Given the description of an element on the screen output the (x, y) to click on. 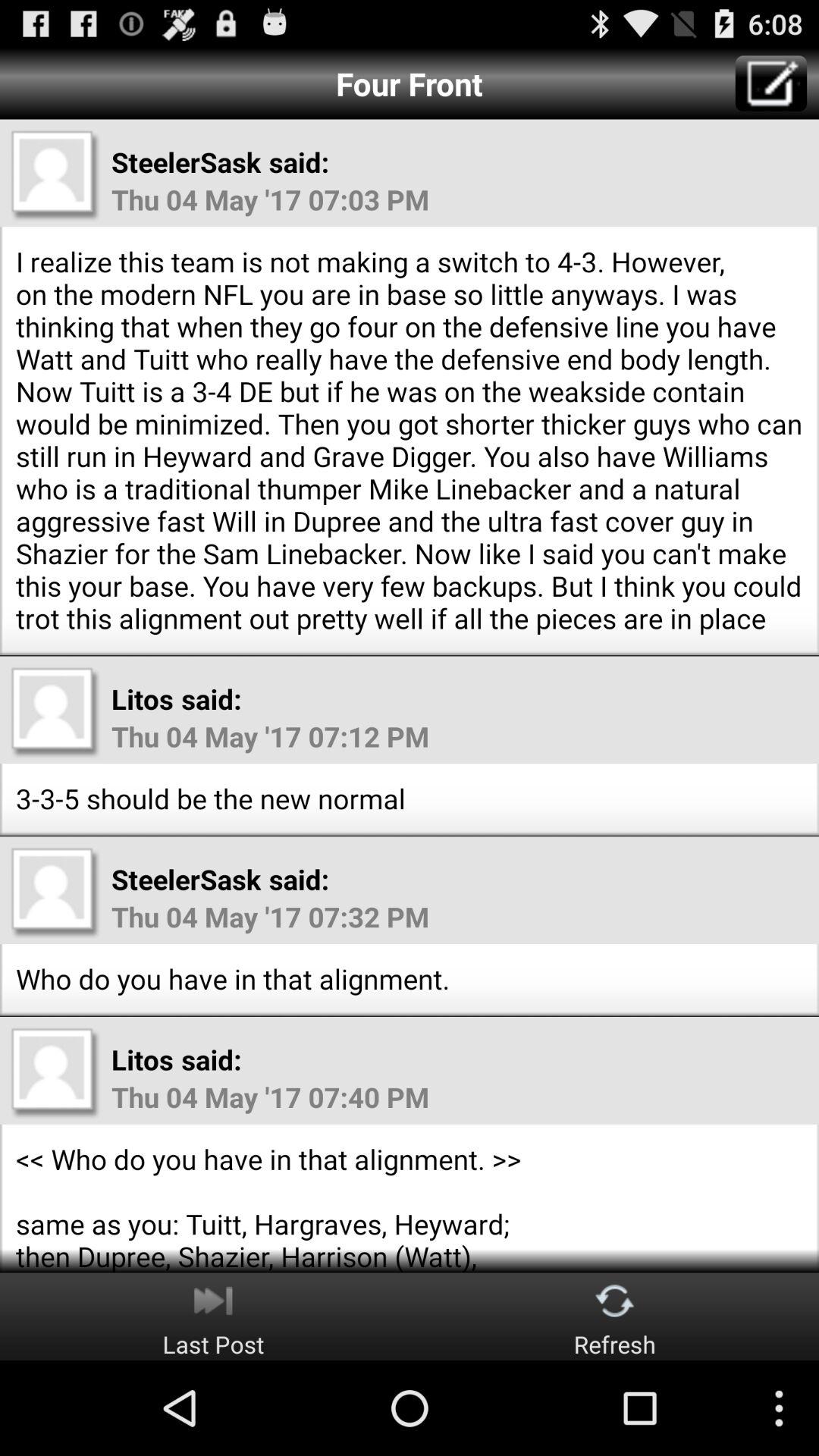
launch the button to the right of last post (615, 1316)
